Given the description of an element on the screen output the (x, y) to click on. 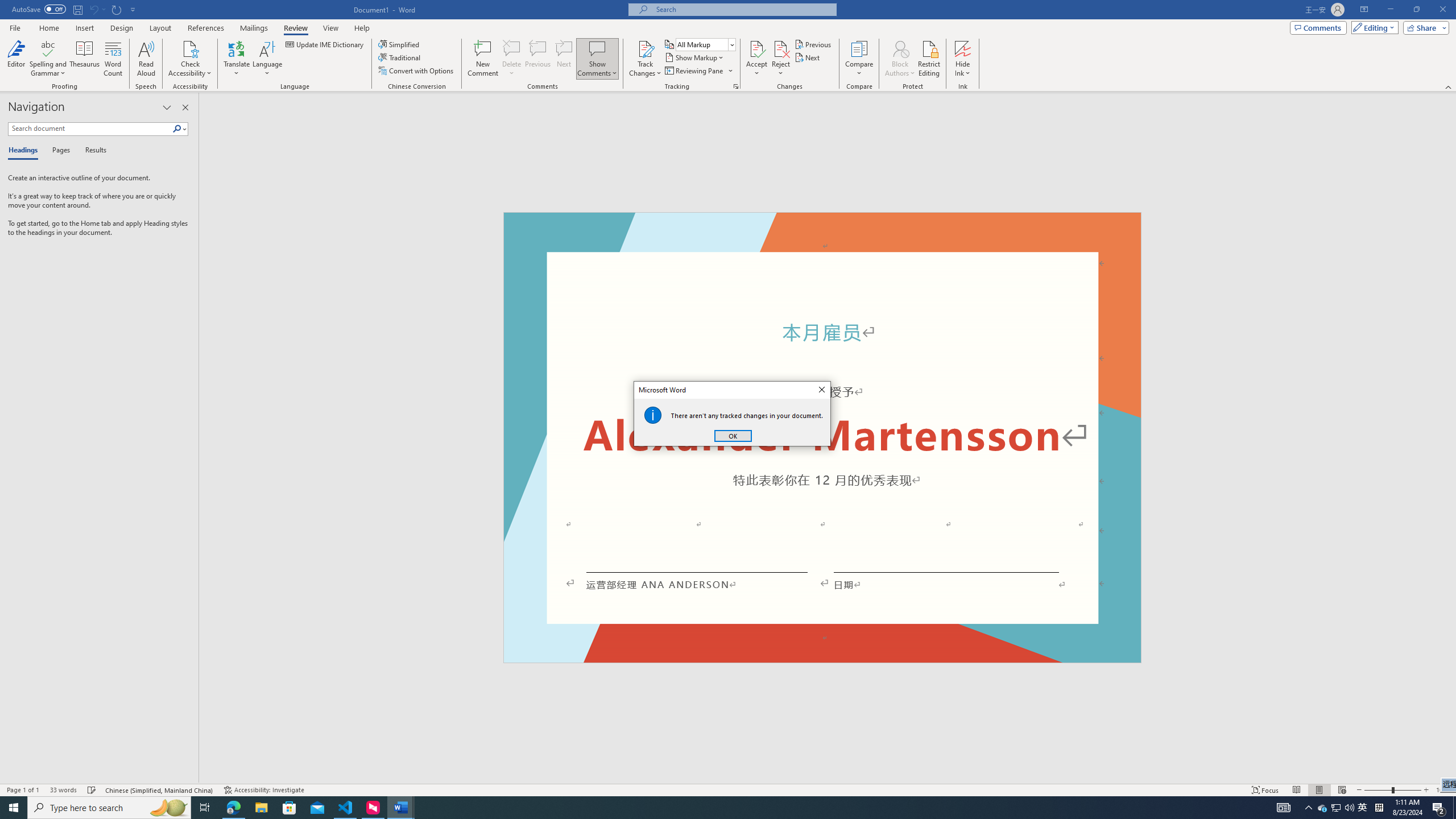
Thesaurus... (84, 58)
Start (13, 807)
Search highlights icon opens search home window (167, 807)
Hide Ink (962, 48)
Check Accessibility (189, 58)
Tray Input Indicator - Chinese (Simplified, China) (1378, 807)
Block Authors (1335, 807)
Previous (1322, 807)
Class: NetUIScrollBar (900, 58)
